Given the description of an element on the screen output the (x, y) to click on. 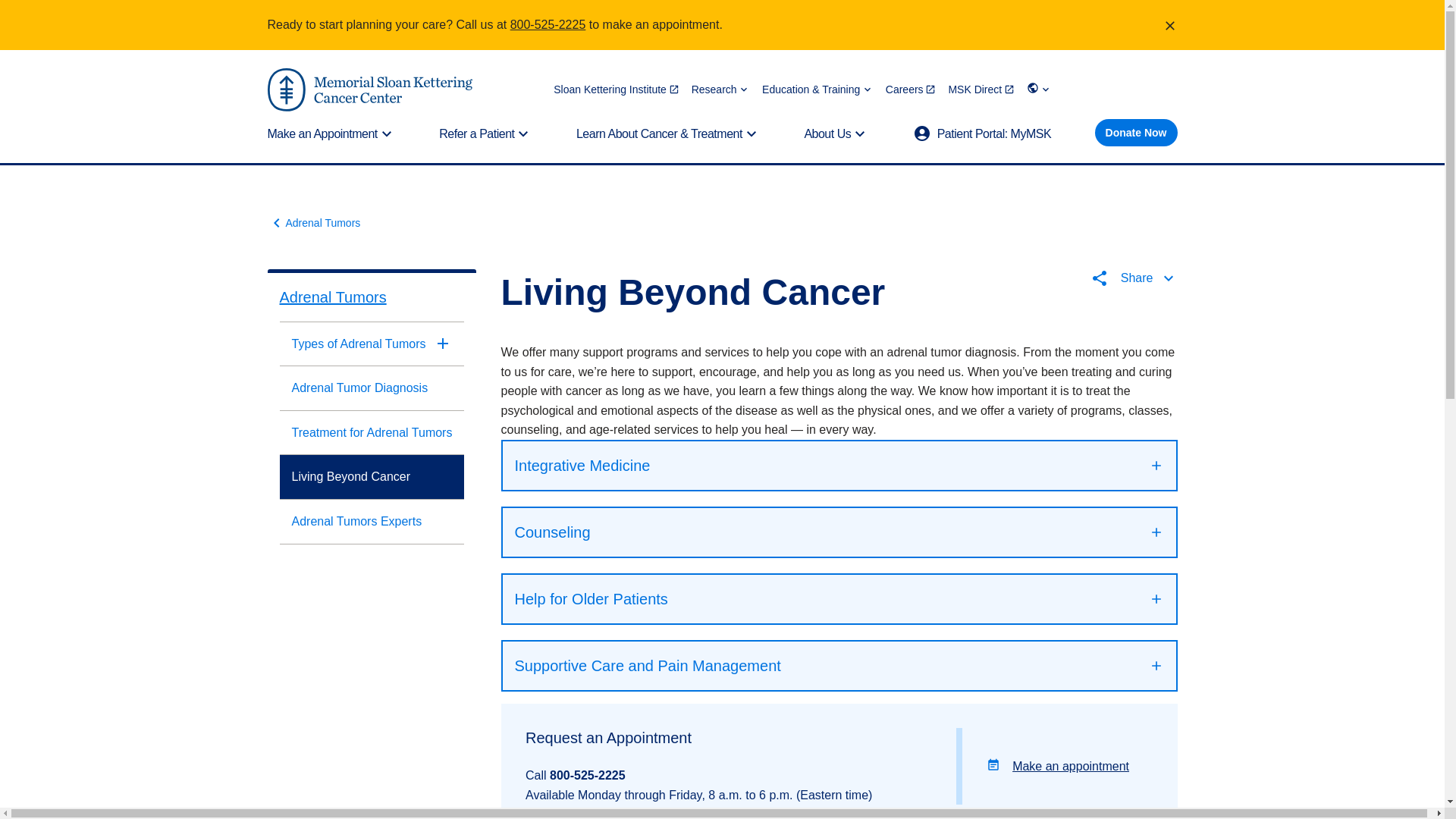
Donate Now (1135, 132)
800-525-2225 (548, 24)
Research (720, 89)
Careers (910, 89)
MSK Direct (980, 89)
Sloan Kettering Institute (615, 89)
